Given the description of an element on the screen output the (x, y) to click on. 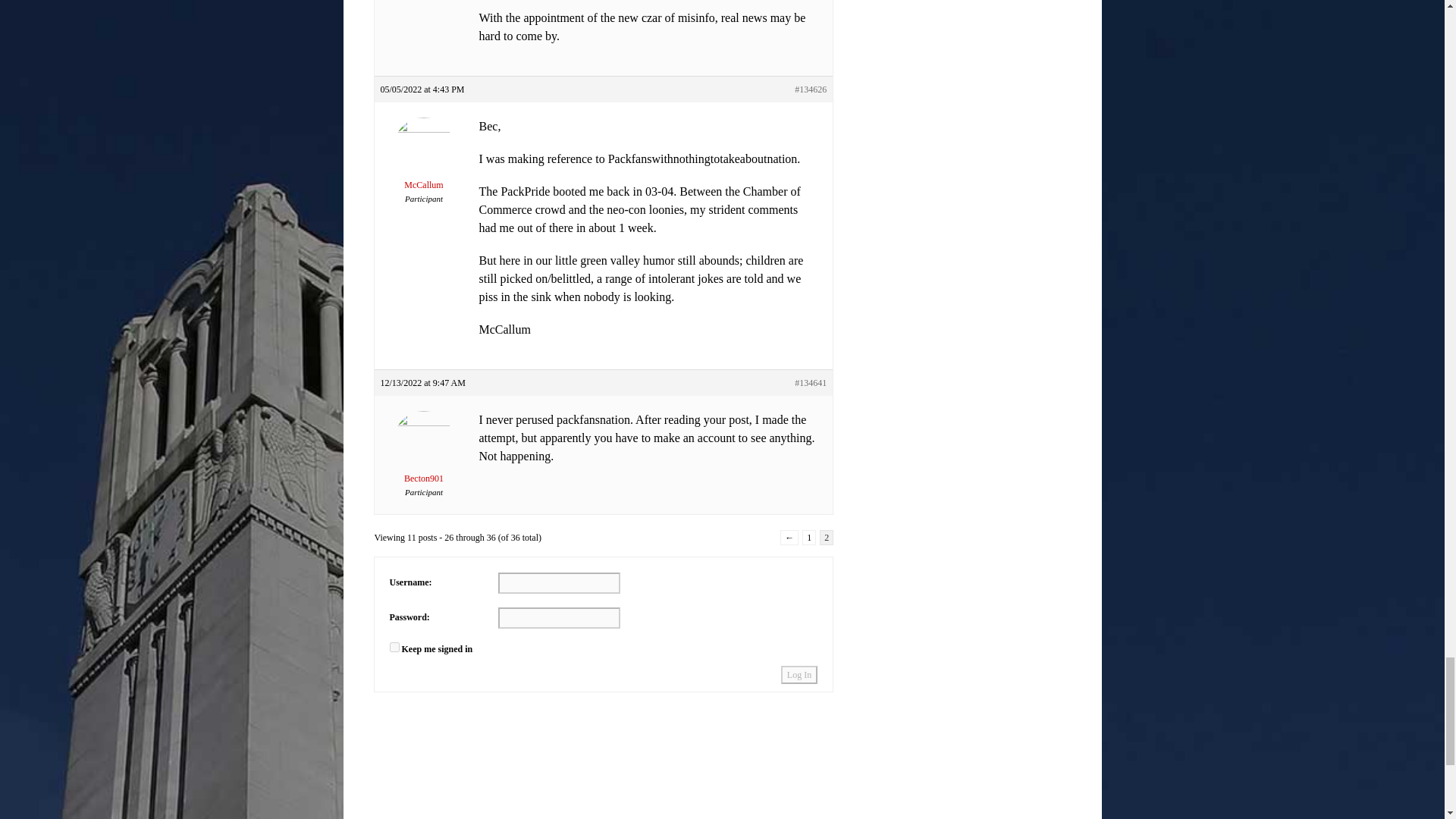
View Becton901's profile (423, 456)
forever (394, 646)
View McCallum's profile (423, 163)
